Given the description of an element on the screen output the (x, y) to click on. 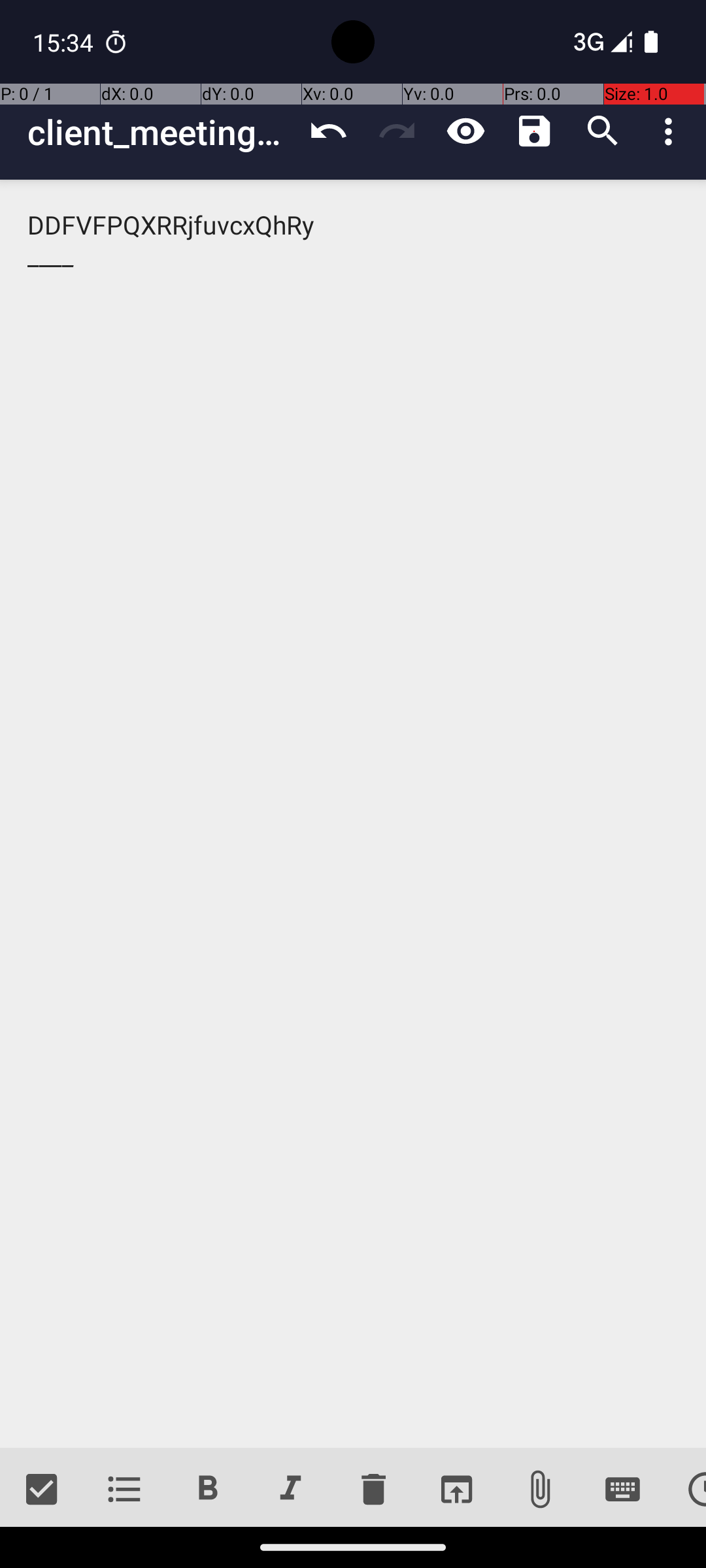
client_meetings_schedule_backup Element type: android.widget.TextView (160, 131)
DDFVFPQXRRjfuvcxQhRy
____ Element type: android.widget.EditText (353, 813)
